Given the description of an element on the screen output the (x, y) to click on. 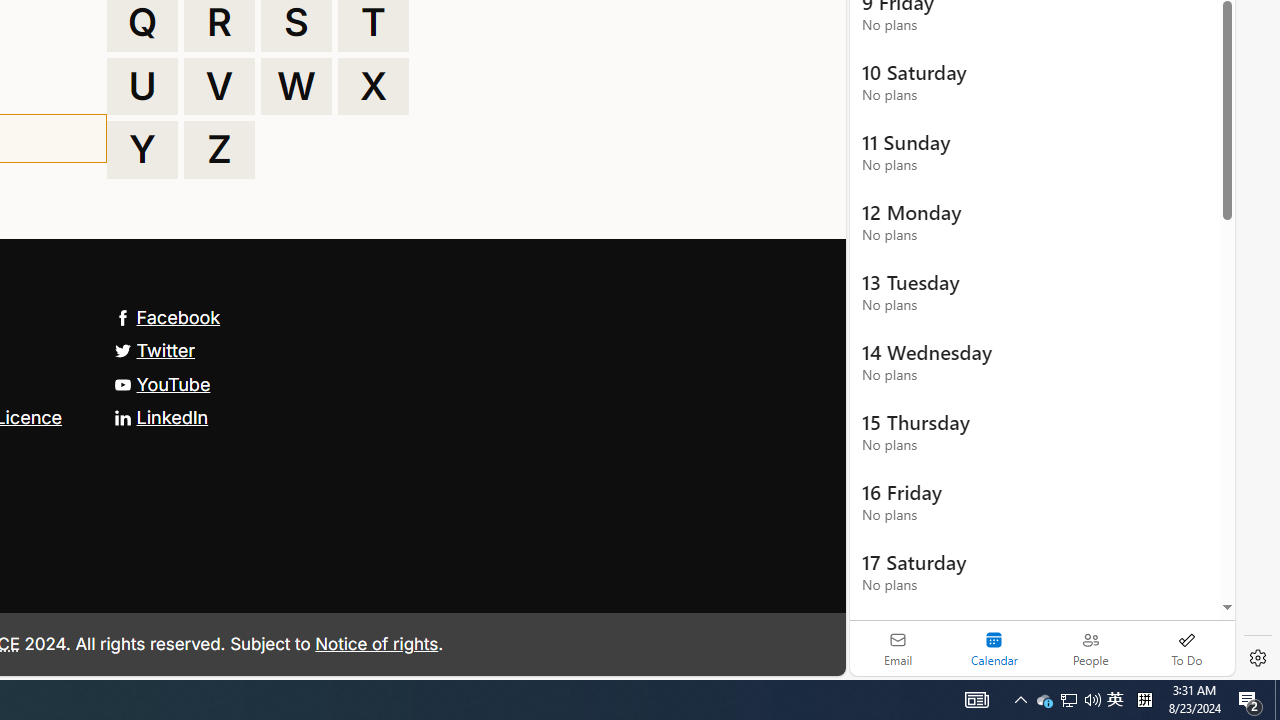
Z (219, 149)
X (373, 85)
W (296, 85)
V (219, 85)
Y (142, 149)
V (219, 85)
Y (142, 149)
Selected calendar module. Date today is 22 (994, 648)
U (142, 85)
Facebook (167, 317)
LinkedIn (160, 416)
X (373, 85)
